Given the description of an element on the screen output the (x, y) to click on. 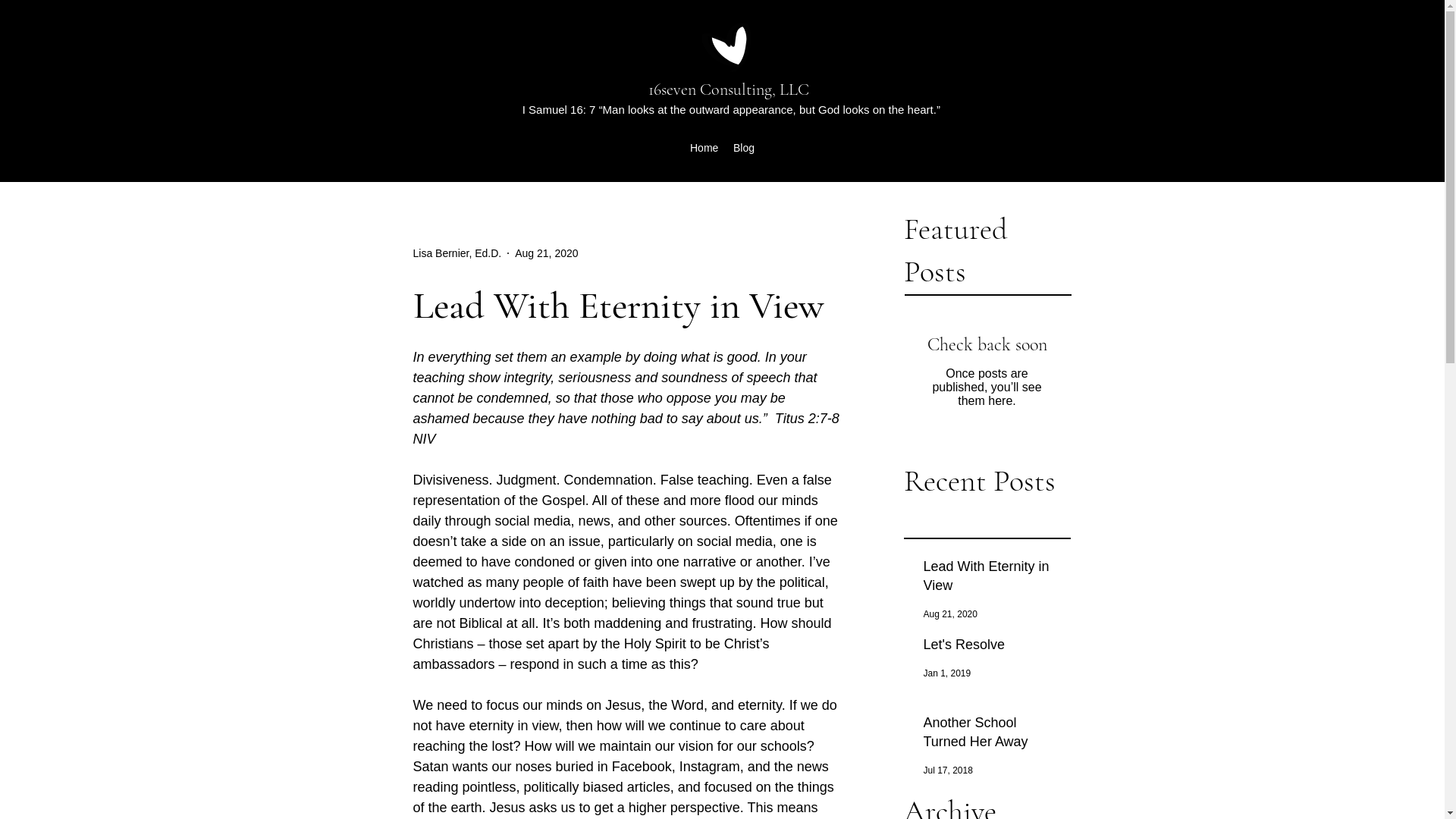
Lead With Eternity in View Element type: text (992, 579)
Home Element type: text (703, 147)
Let's Resolve Element type: text (992, 647)
Another School Turned Her Away Element type: text (992, 735)
16seven Consulting, LLC Element type: text (728, 89)
Blog Element type: text (743, 147)
